Given the description of an element on the screen output the (x, y) to click on. 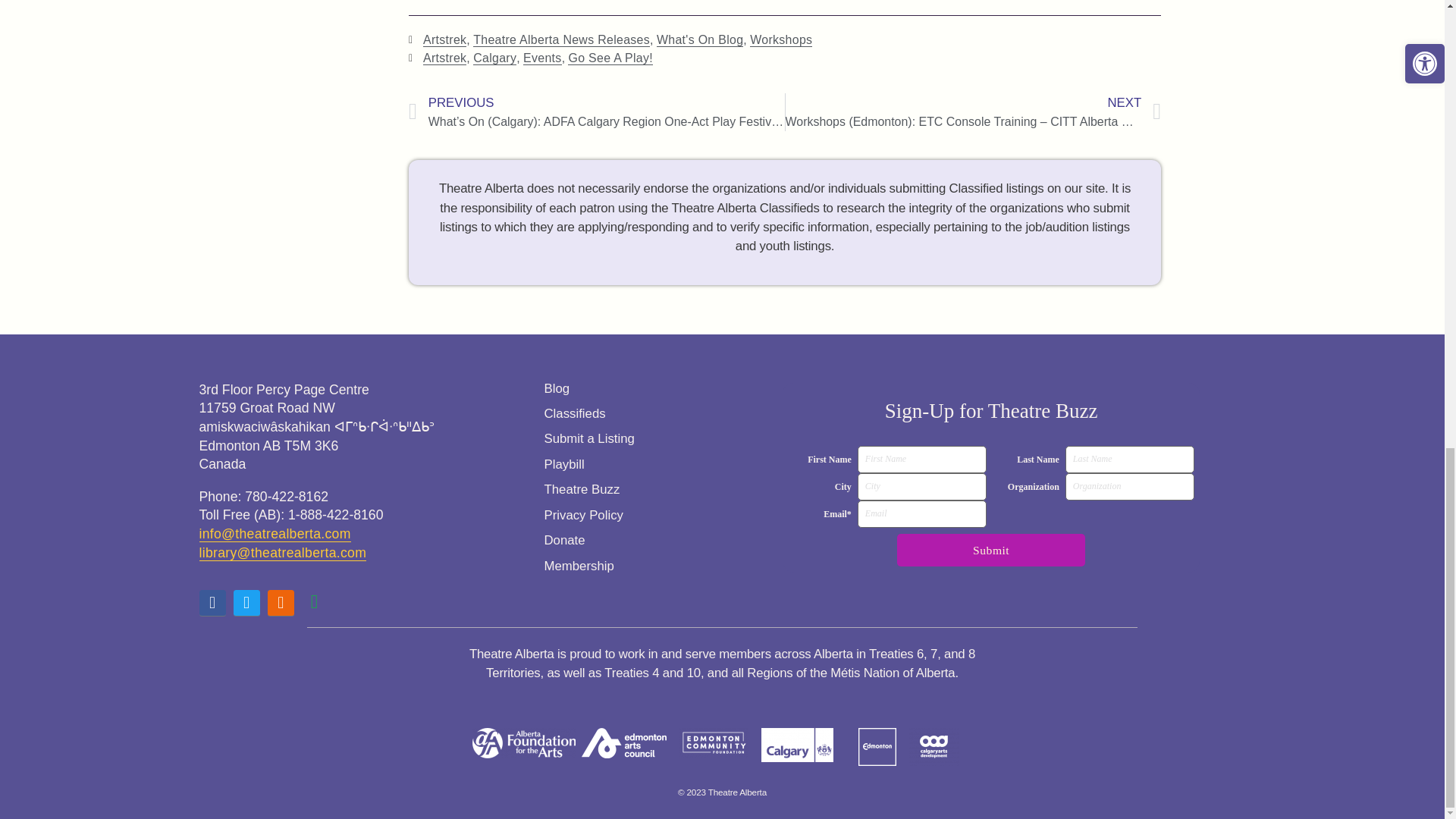
Submit (990, 550)
